Given the description of an element on the screen output the (x, y) to click on. 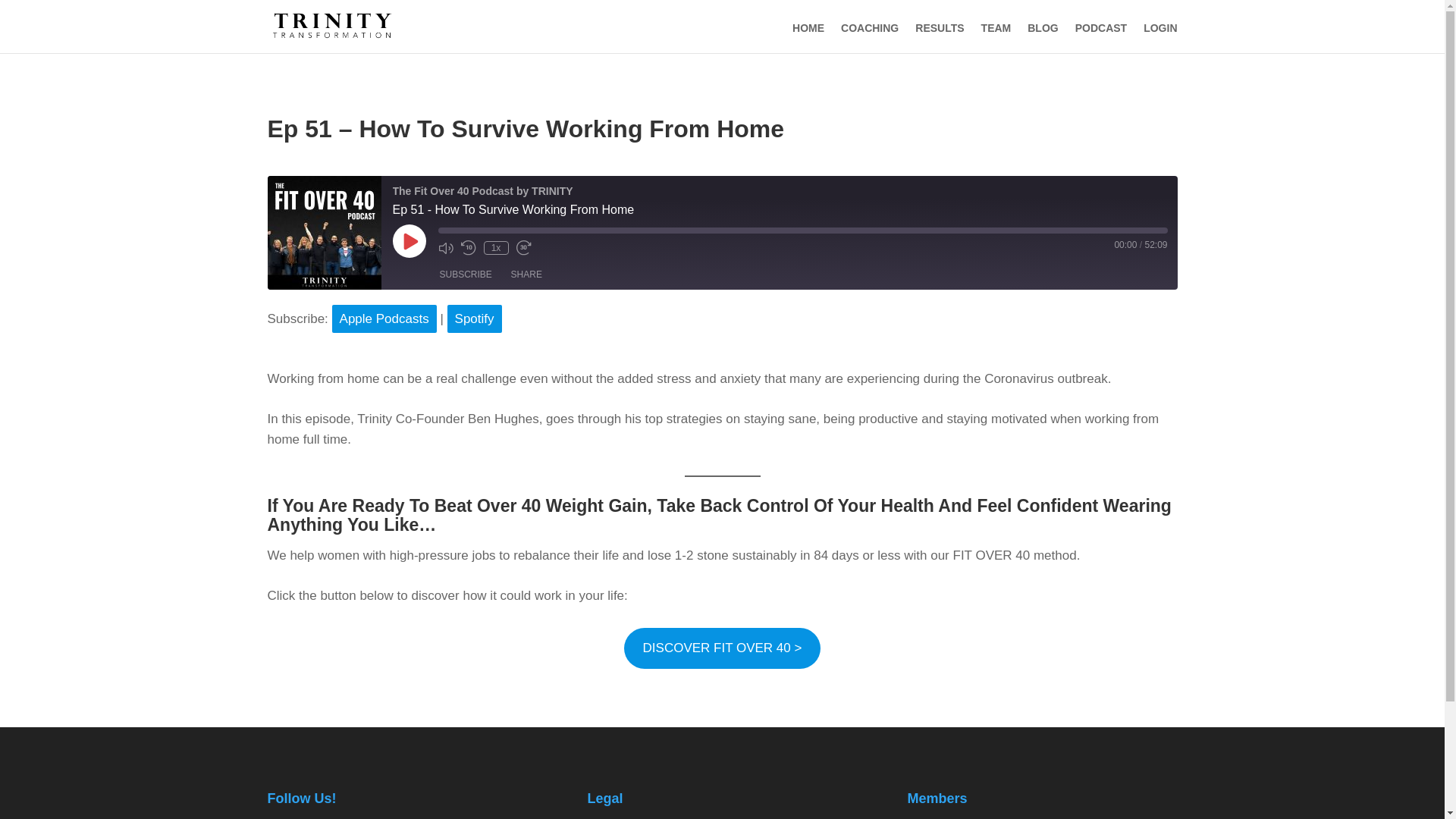
The Fit Over 40 Podcast by TRINITY (323, 232)
Fast Forward 30 seconds (523, 247)
COACHING (869, 27)
Apple Podcasts (383, 318)
Spotify (474, 318)
Play (409, 240)
Play Episode (409, 240)
SUBSCRIBE (465, 273)
RESULTS (939, 27)
Fast Forward 30 seconds (523, 247)
HOME (808, 27)
Rewind 10 Seconds (468, 247)
LOGIN (1159, 27)
Subscribe (465, 273)
1x (495, 247)
